Given the description of an element on the screen output the (x, y) to click on. 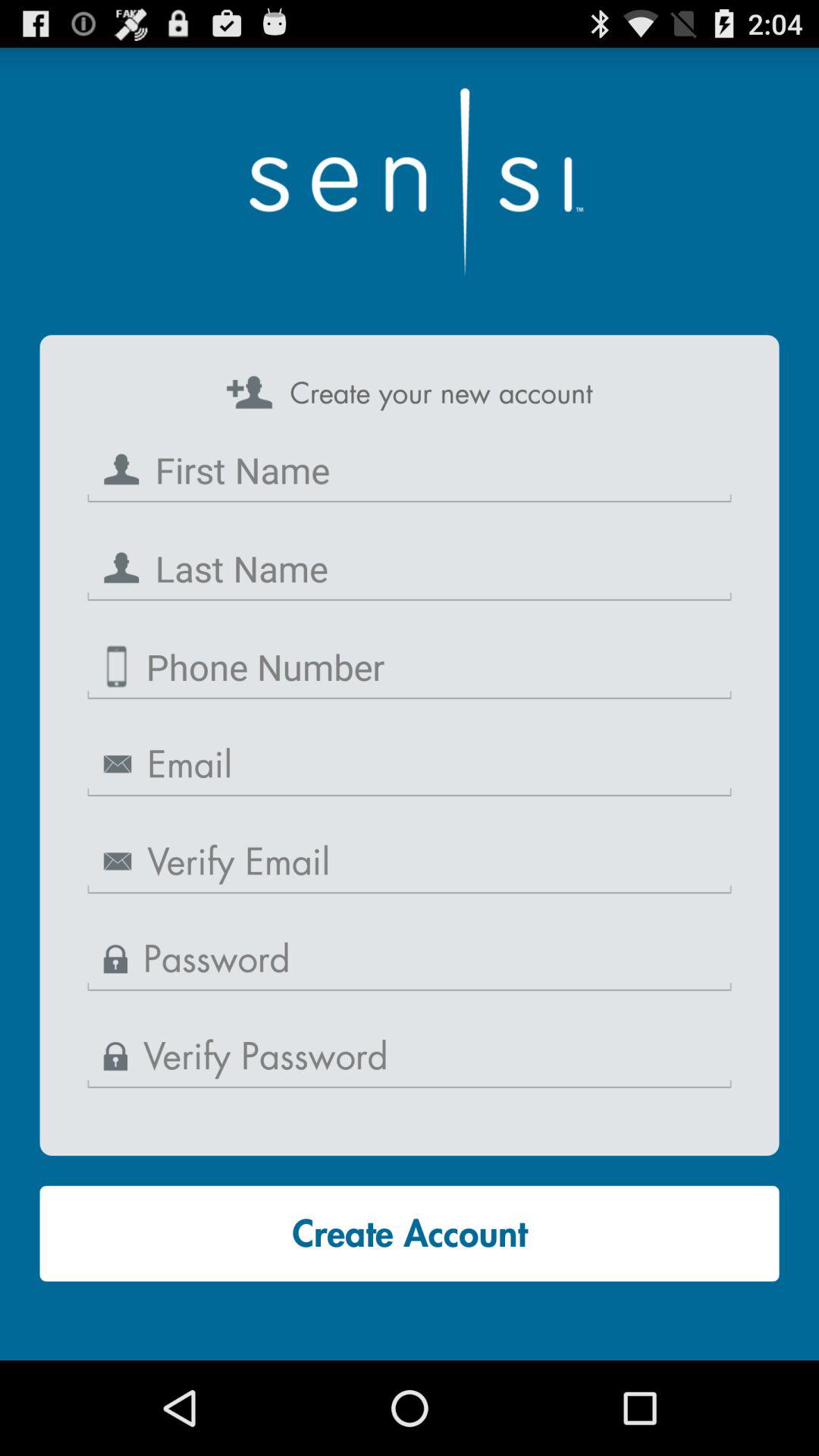
input information (409, 959)
